Given the description of an element on the screen output the (x, y) to click on. 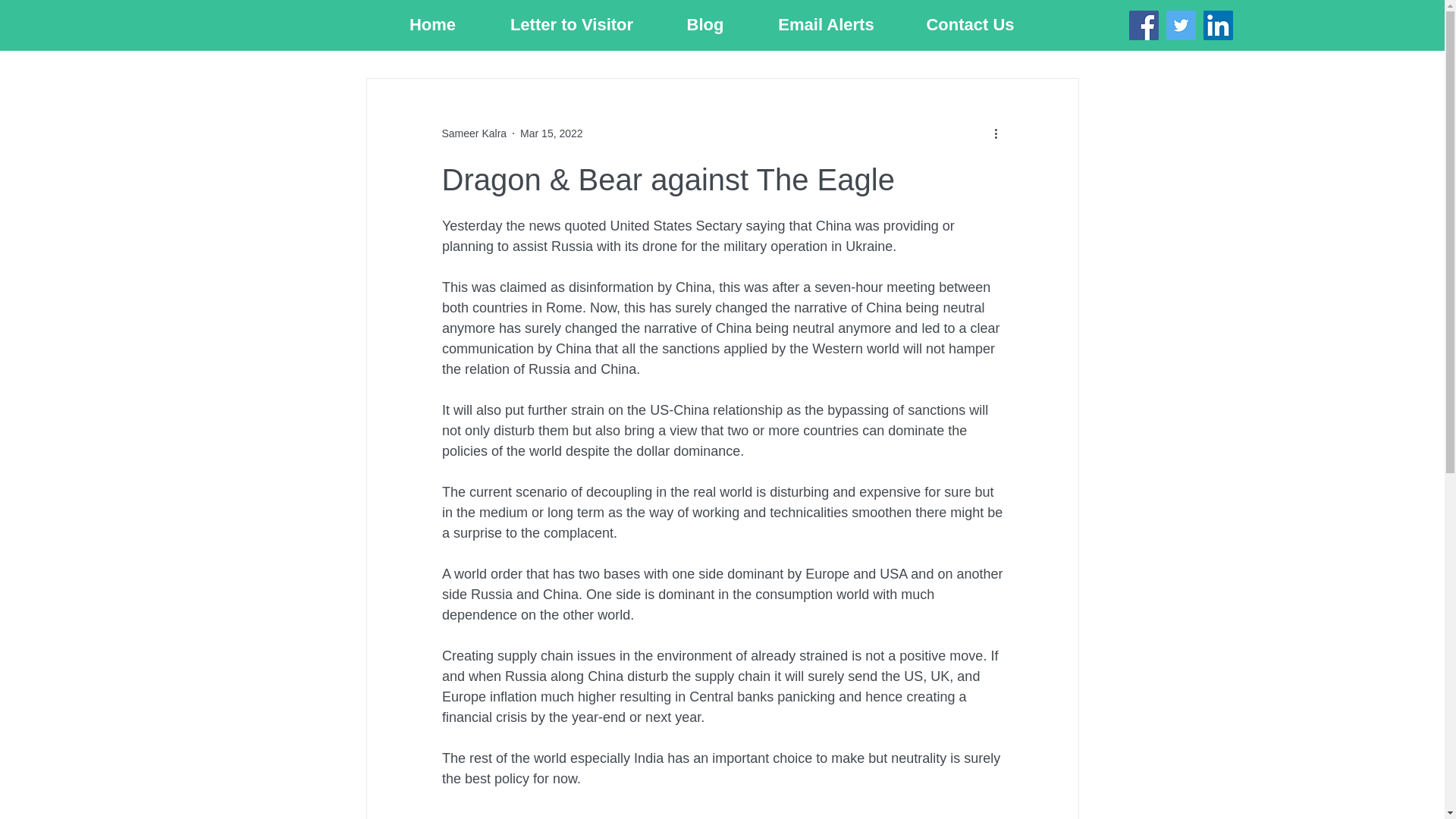
Contact Us (970, 24)
Sameer Kalra (473, 133)
Email Alerts (825, 24)
Blog (705, 24)
Sameer Kalra (473, 133)
Mar 15, 2022 (551, 133)
Letter to Visitor (571, 24)
Home (431, 24)
